Given the description of an element on the screen output the (x, y) to click on. 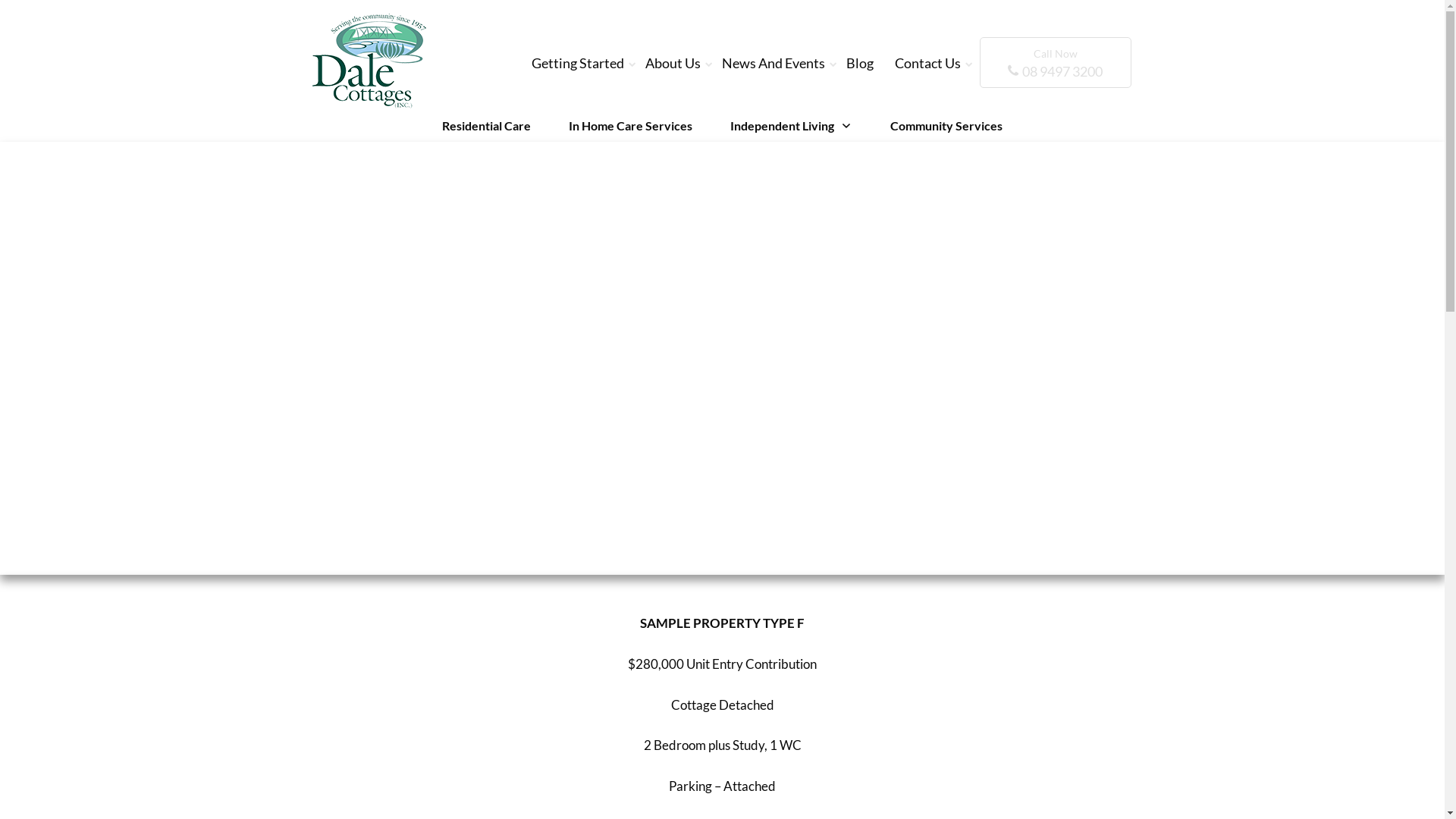
About Us Element type: text (672, 62)
Getting Started Element type: text (577, 62)
Blog Element type: text (859, 62)
Independent Living Element type: text (791, 125)
Community Services Element type: text (946, 125)
Call Now
08 9497 3200 Element type: text (1055, 62)
Residential Care Element type: text (486, 125)
Contact Us Element type: text (927, 62)
In Home Care Services Element type: text (630, 125)
News And Events Element type: text (773, 62)
